Given the description of an element on the screen output the (x, y) to click on. 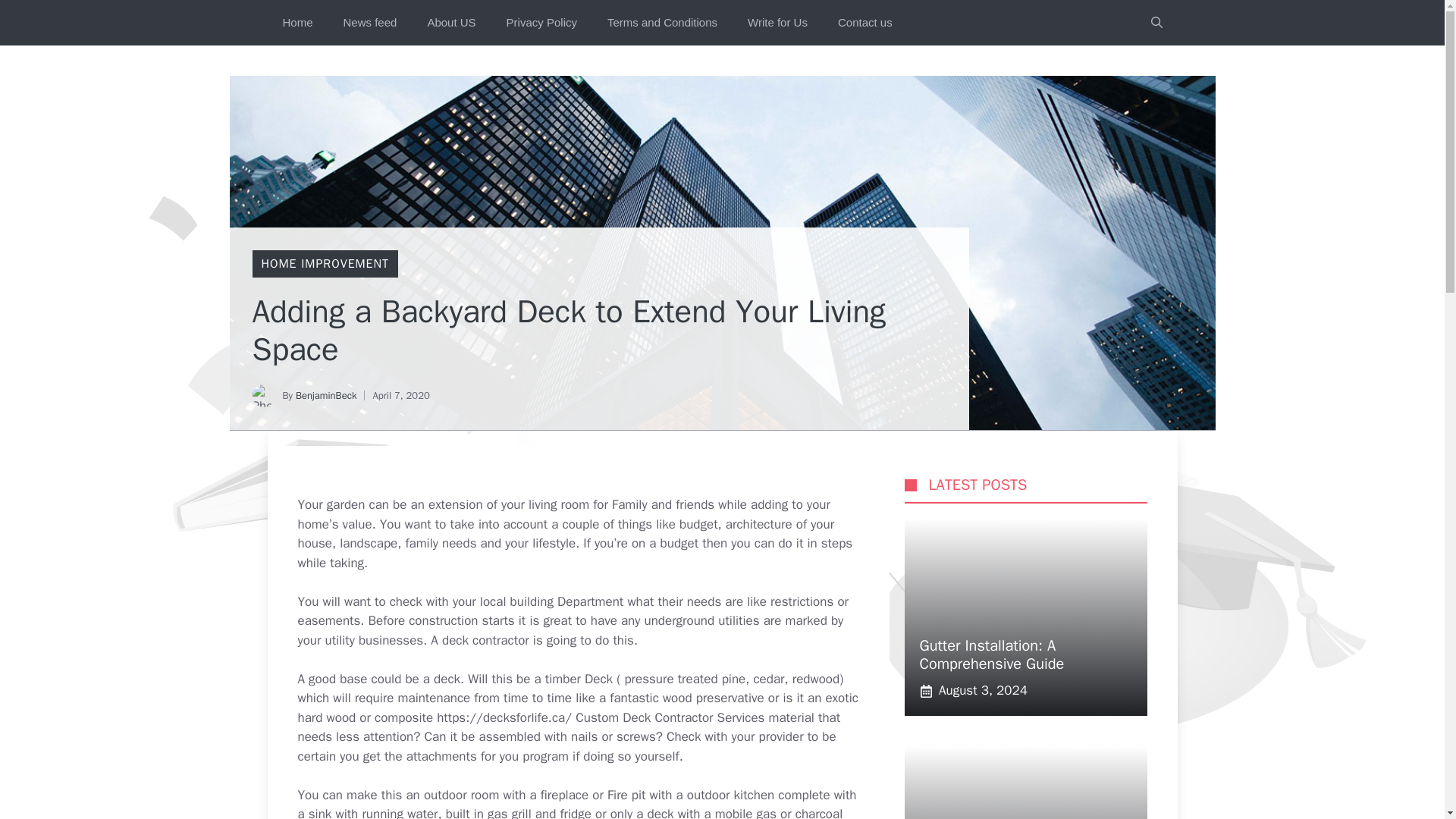
Terms and Conditions (662, 22)
BenjaminBeck (325, 395)
About US (451, 22)
HOME IMPROVEMENT (324, 263)
News feed (370, 22)
Write for Us (777, 22)
Contact us (864, 22)
Privacy Policy (542, 22)
deck (660, 812)
Gutter Installation: A Comprehensive Guide (991, 654)
